Given the description of an element on the screen output the (x, y) to click on. 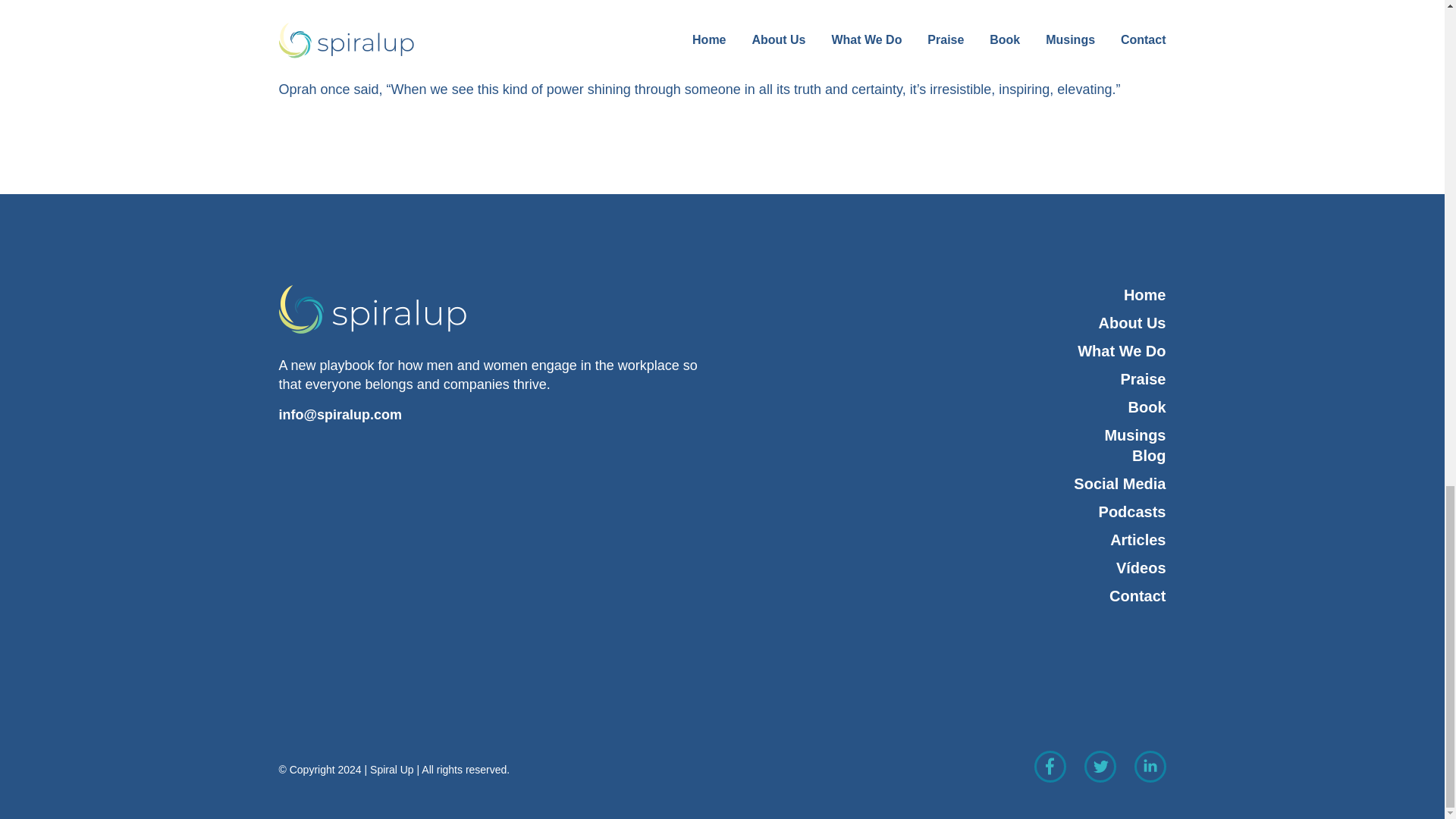
Facebook (1049, 766)
What We Do (949, 351)
Blog (965, 455)
Twitter (1100, 766)
Articles (965, 539)
Social Media (965, 484)
Contact (949, 596)
Praise (949, 379)
About Us (949, 322)
Musings (949, 435)
